Given the description of an element on the screen output the (x, y) to click on. 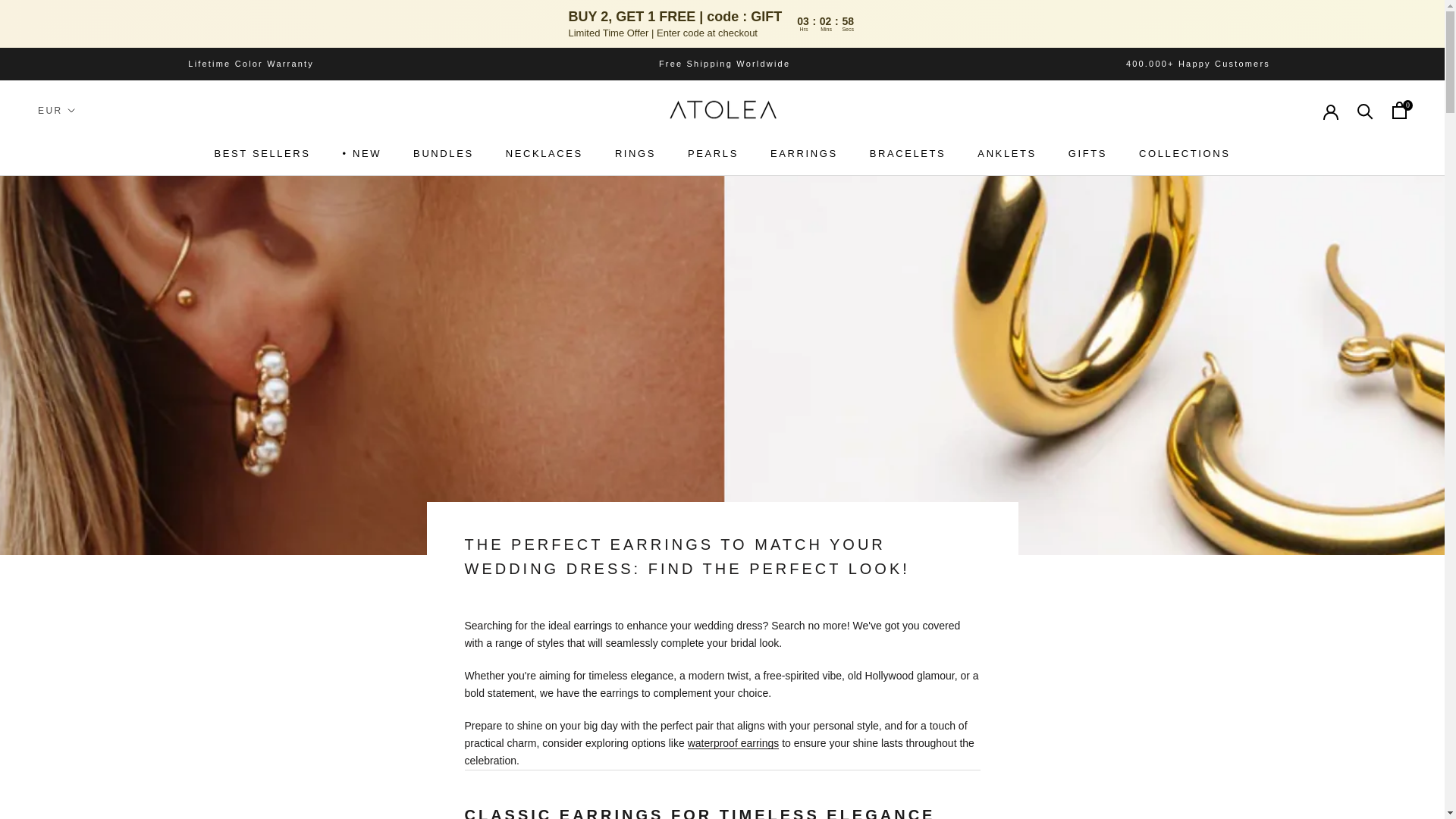
NECKLACES (544, 154)
GIFTS (1087, 154)
BUNDLES (443, 154)
BEST SELLERS (262, 154)
Atolea Jewelry (721, 110)
EARRINGS (804, 154)
PEARLS (712, 154)
BRACELETS (907, 154)
RINGS (635, 154)
